Given the description of an element on the screen output the (x, y) to click on. 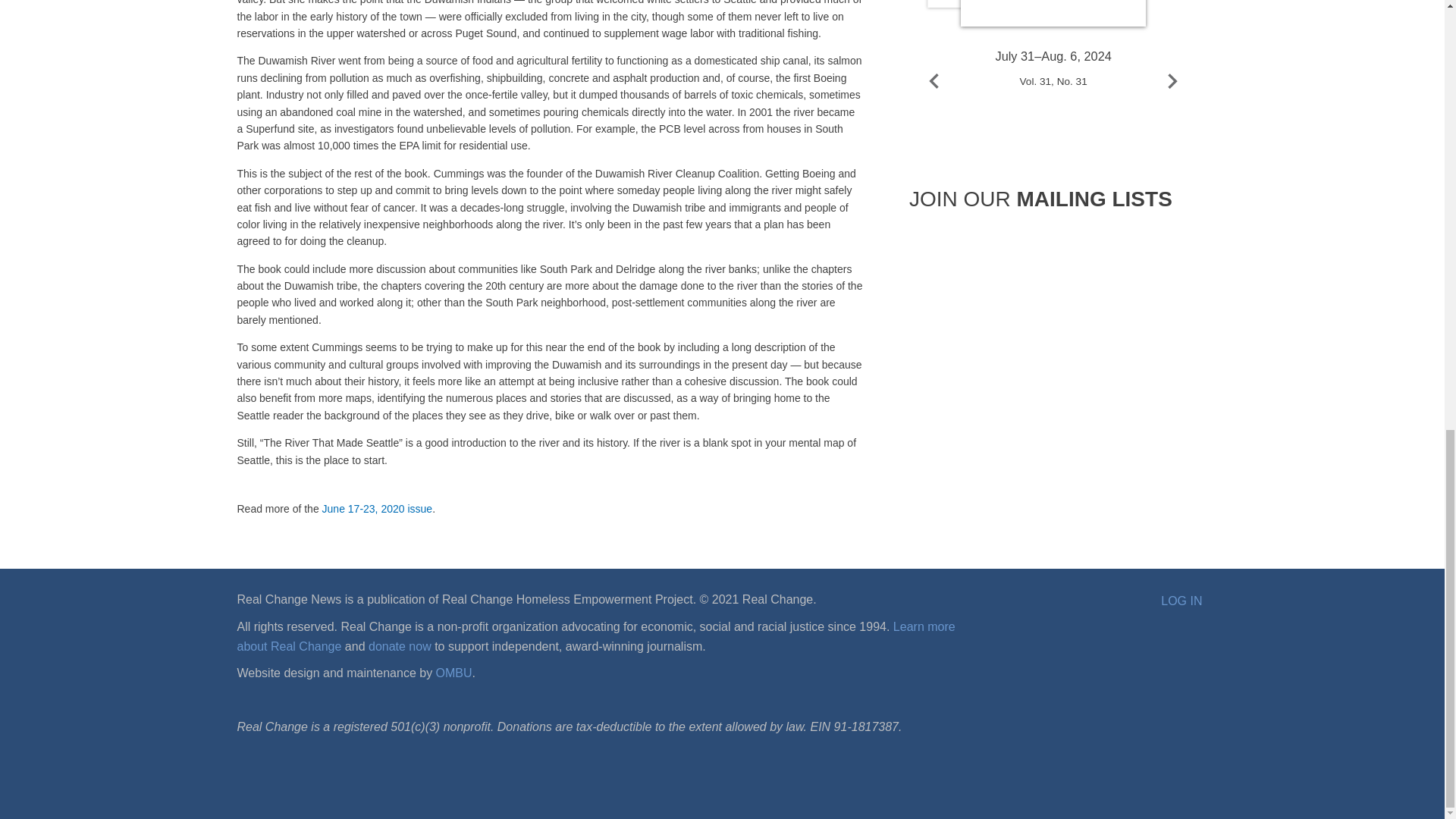
Previous issue (933, 80)
donate now (399, 645)
June 17-23, 2020 issue (376, 508)
Learn more about Real Change (595, 635)
Next issue (1172, 80)
OMBU (453, 672)
LOG IN (1181, 600)
